Given the description of an element on the screen output the (x, y) to click on. 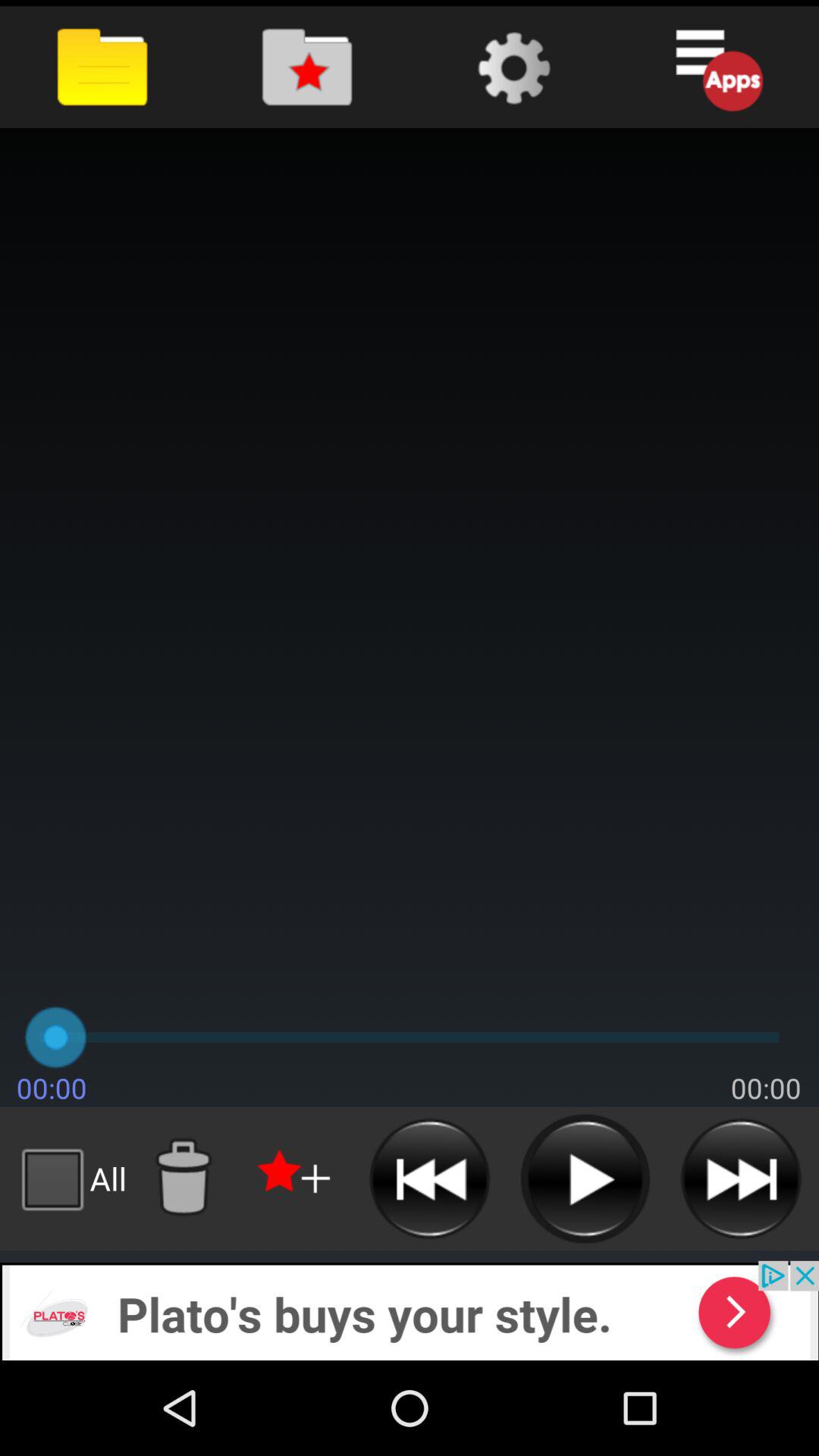
play song (584, 1178)
